Given the description of an element on the screen output the (x, y) to click on. 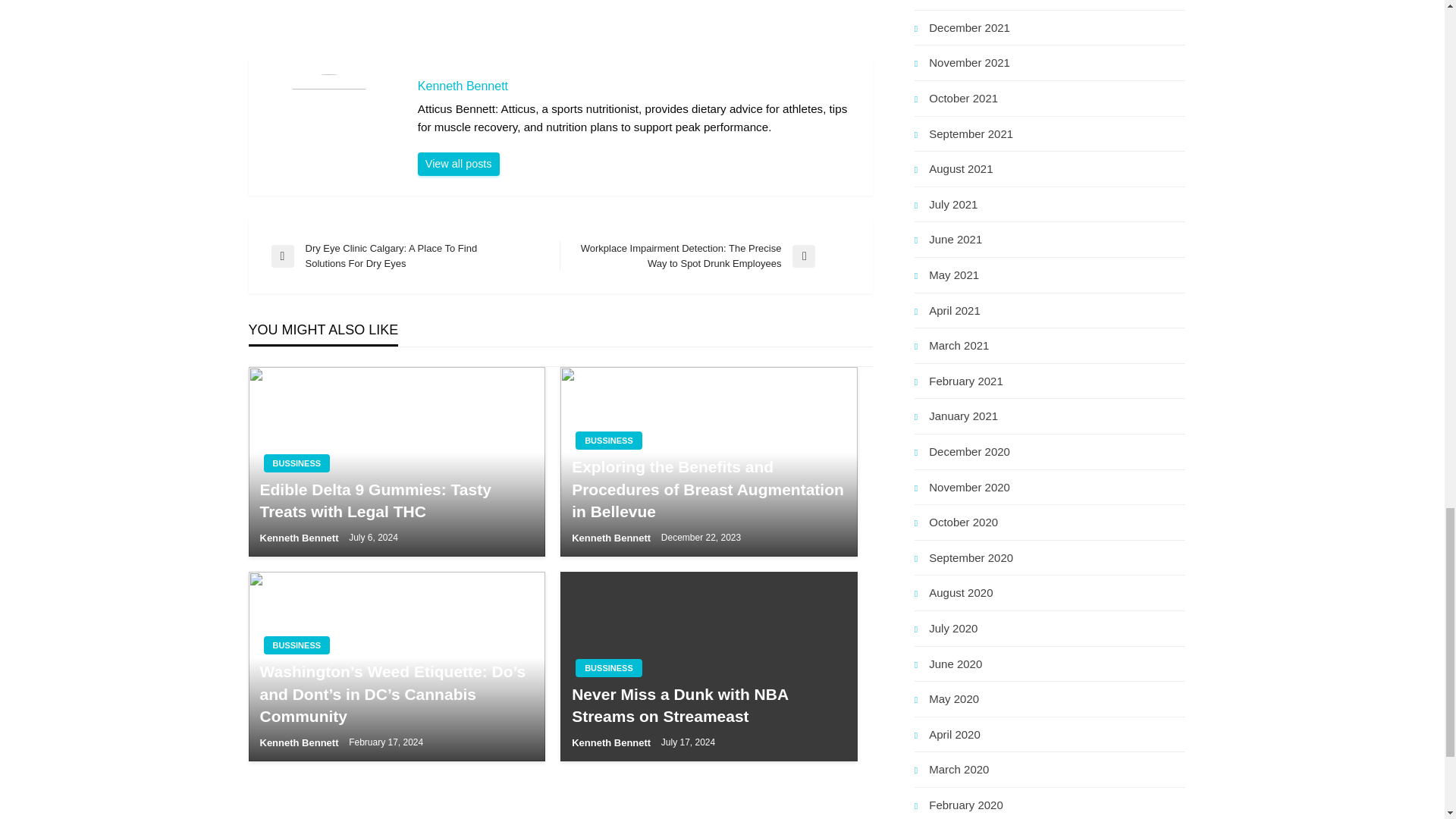
Kenneth Bennett (299, 742)
Never Miss a Dunk with NBA Streams on Streameast (708, 705)
Kenneth Bennett (299, 537)
BUSSINESS (608, 440)
BUSSINESS (608, 668)
Kenneth Bennett (637, 86)
View all posts (458, 164)
